Given the description of an element on the screen output the (x, y) to click on. 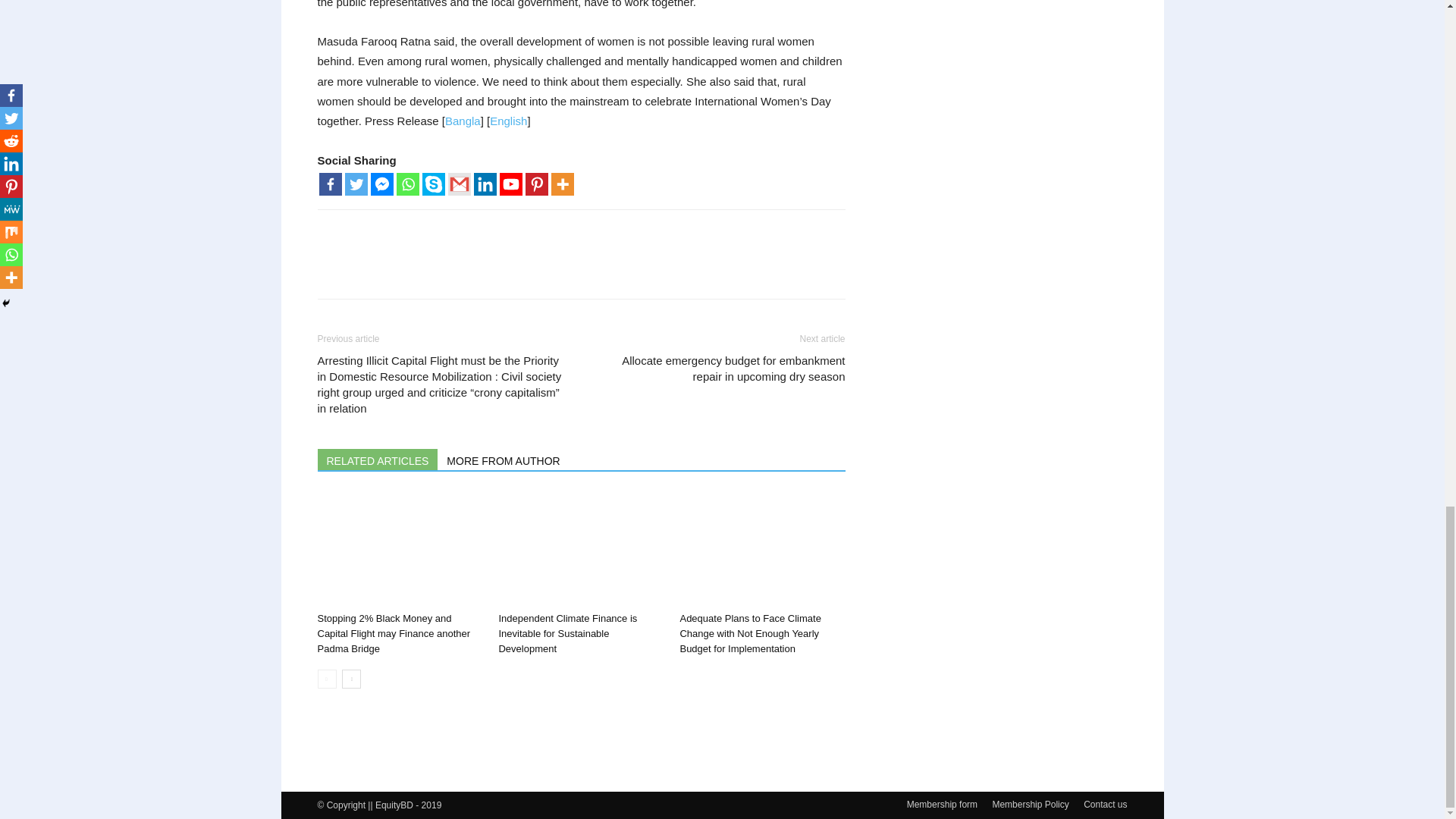
Whatsapp (407, 183)
Skype (433, 183)
Linkedin (484, 183)
Youtube (510, 183)
Google Gmail (458, 183)
Twitter (354, 183)
Facebook (329, 183)
